Given the description of an element on the screen output the (x, y) to click on. 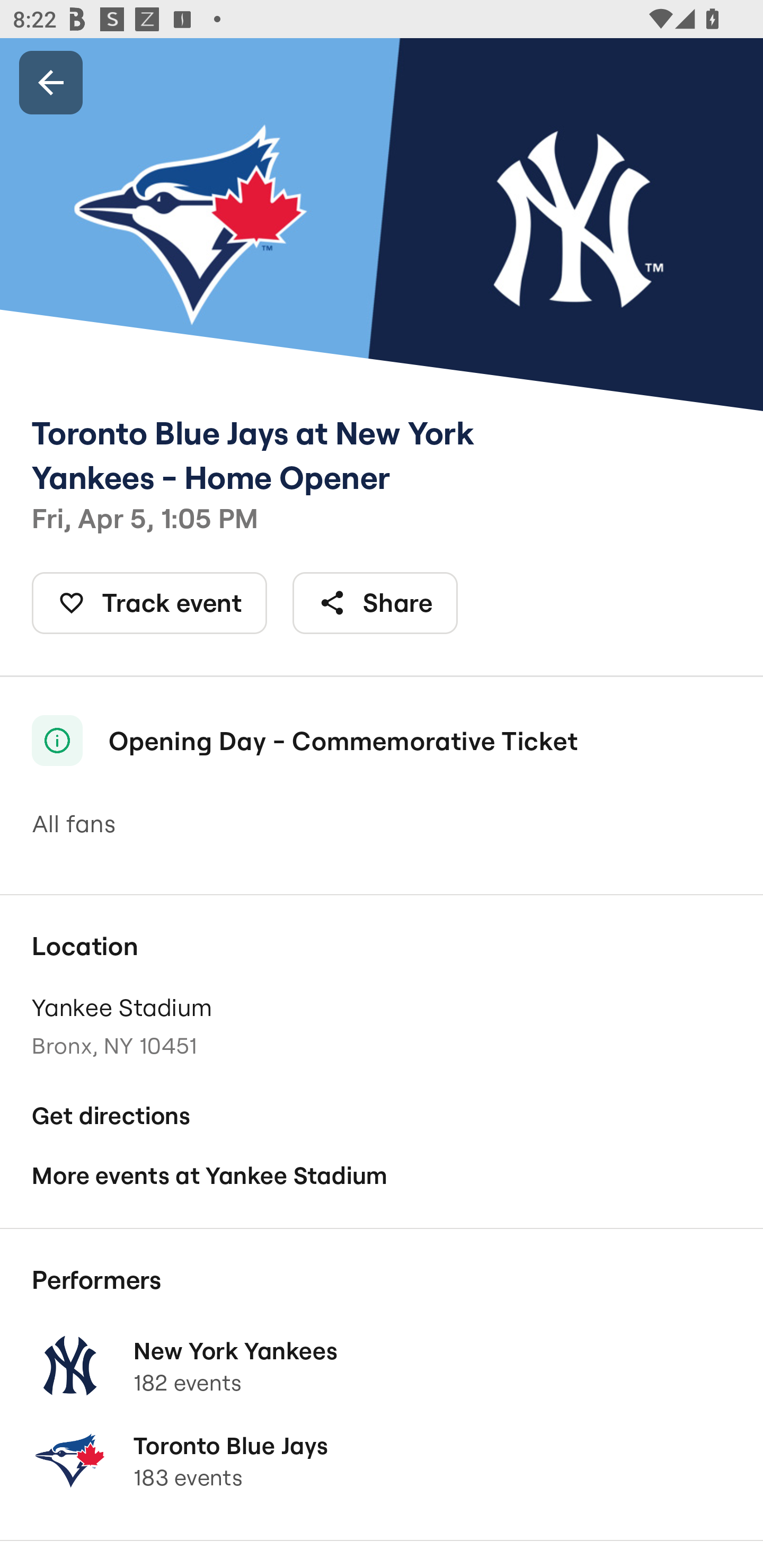
Back (50, 81)
Track event (149, 602)
Share (374, 602)
Get directions (381, 1116)
More events at Yankee Stadium (381, 1175)
New York Yankees 182 events (381, 1365)
Toronto Blue Jays 183 events (381, 1460)
